Given the description of an element on the screen output the (x, y) to click on. 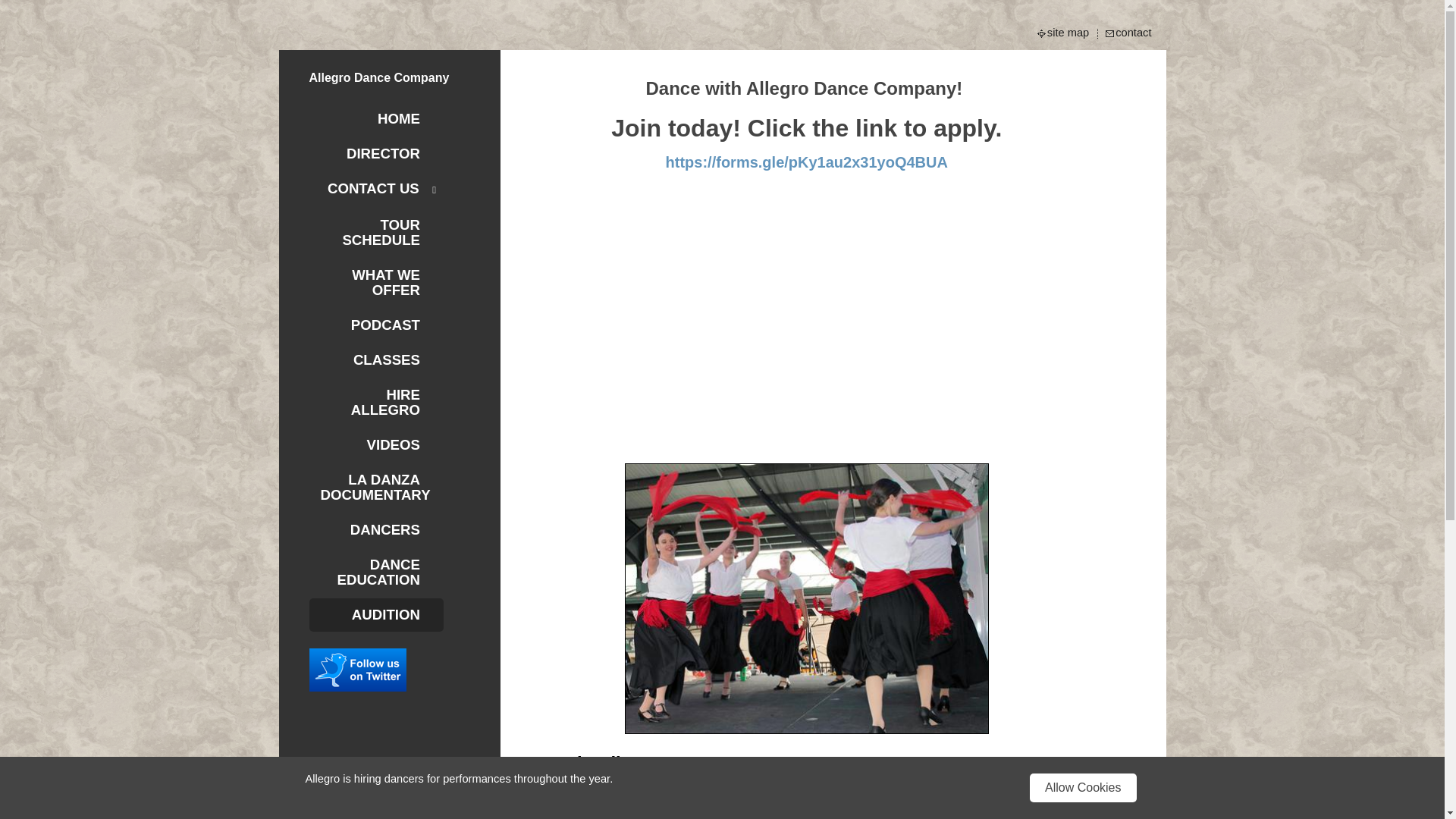
DANCERS (376, 530)
VIDEOS (376, 444)
PODCAST (376, 325)
DANCE EDUCATION (376, 572)
CONTACT US (376, 189)
LA DANZA DOCUMENTARY (376, 487)
WHAT WE OFFER (376, 282)
HIRE ALLEGRO (376, 402)
TOUR SCHEDULE (376, 232)
Allow Cookies (1082, 787)
CLASSES (376, 359)
contact (1134, 32)
HOME (376, 118)
DIRECTOR (376, 153)
AUDITION (376, 614)
